Given the description of an element on the screen output the (x, y) to click on. 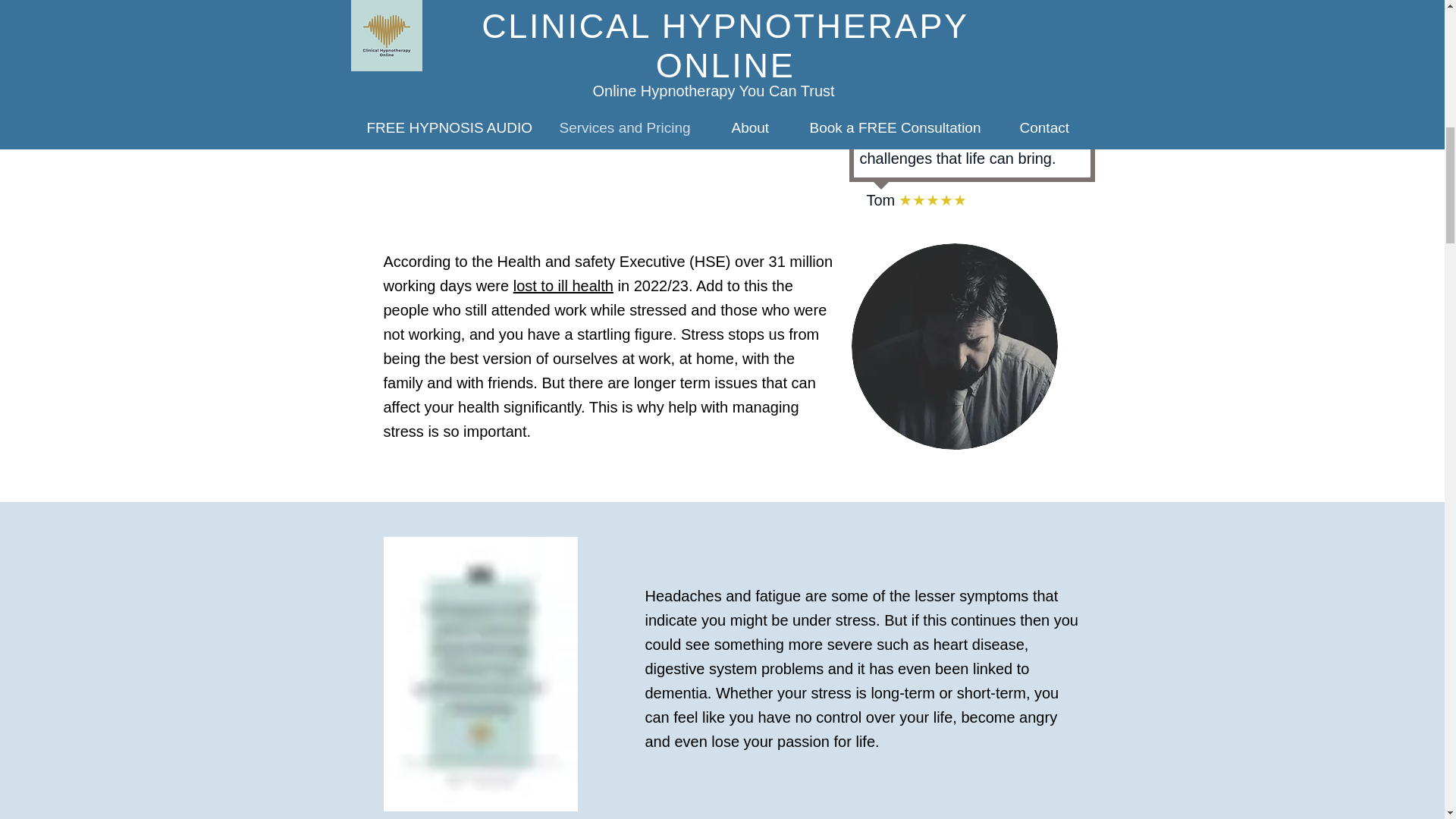
lost to ill health (562, 285)
